Given the description of an element on the screen output the (x, y) to click on. 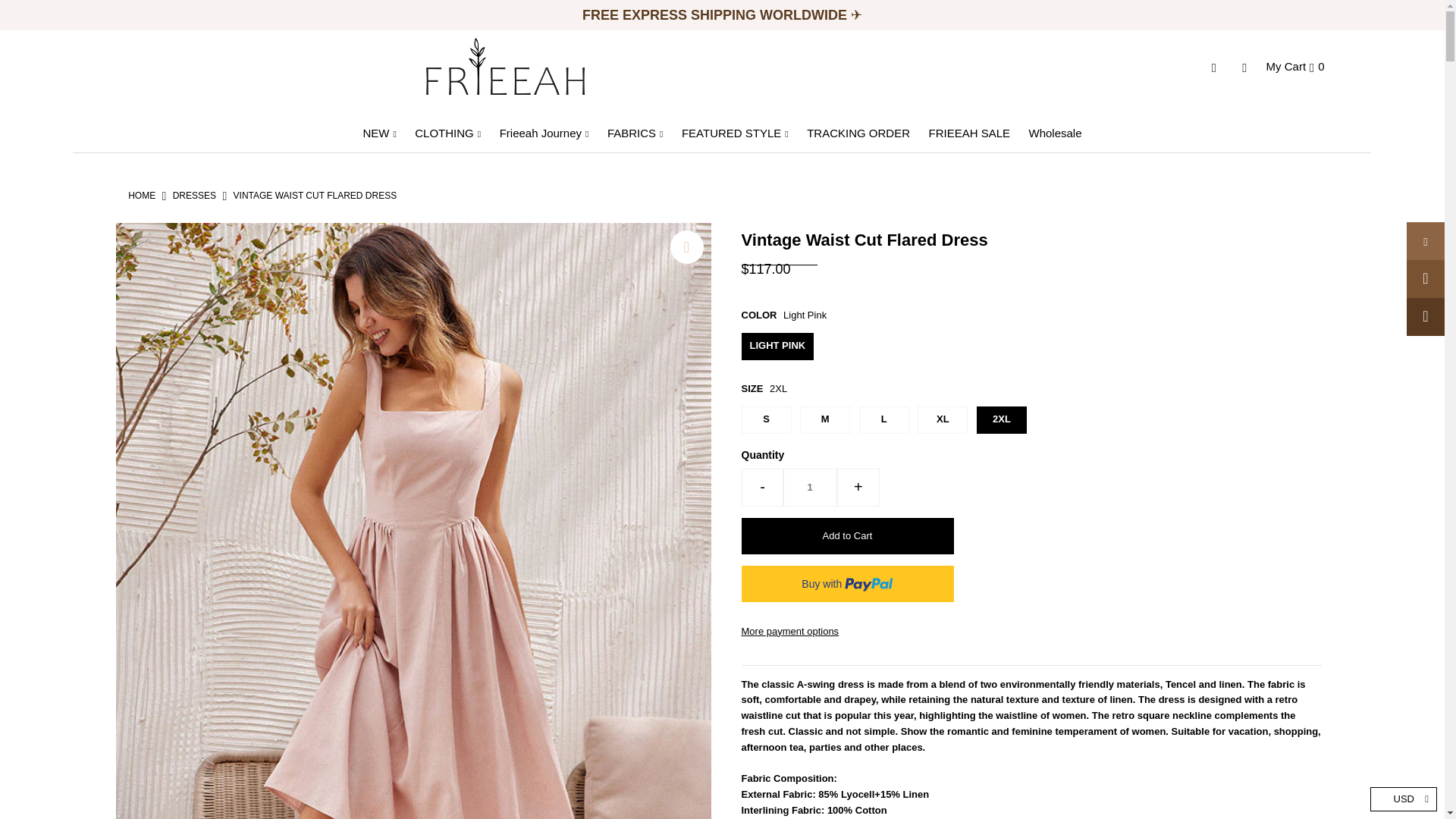
Dresses (194, 195)
Home (141, 195)
Best Seller (716, 14)
NEW (379, 132)
Add to Cart (847, 535)
FREE EXPRESS SHIPPING WORLDWIDE (716, 14)
1 (810, 487)
